Given the description of an element on the screen output the (x, y) to click on. 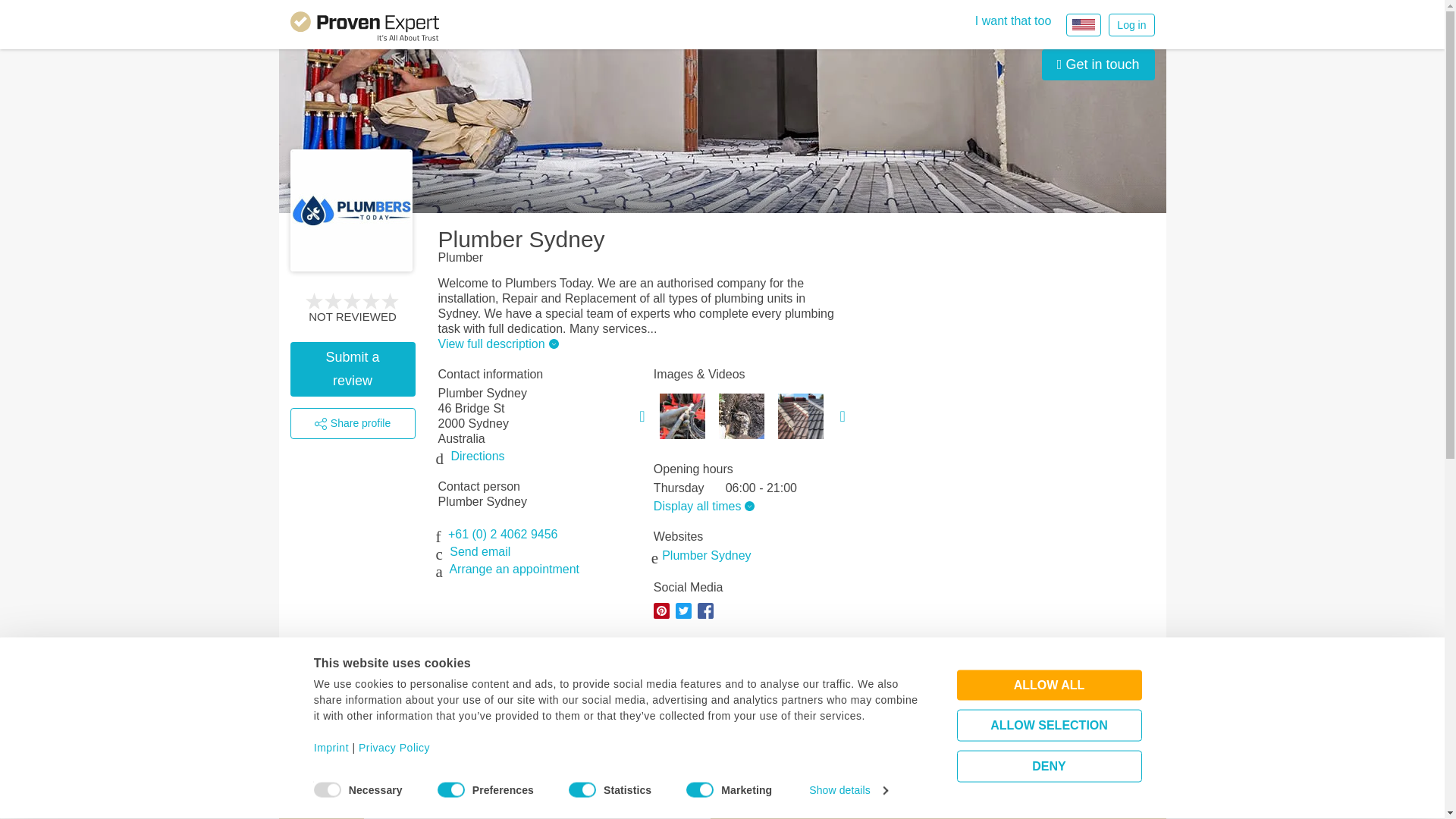
Privacy Policy (393, 747)
Imprint (331, 747)
Show details (847, 789)
